Given the description of an element on the screen output the (x, y) to click on. 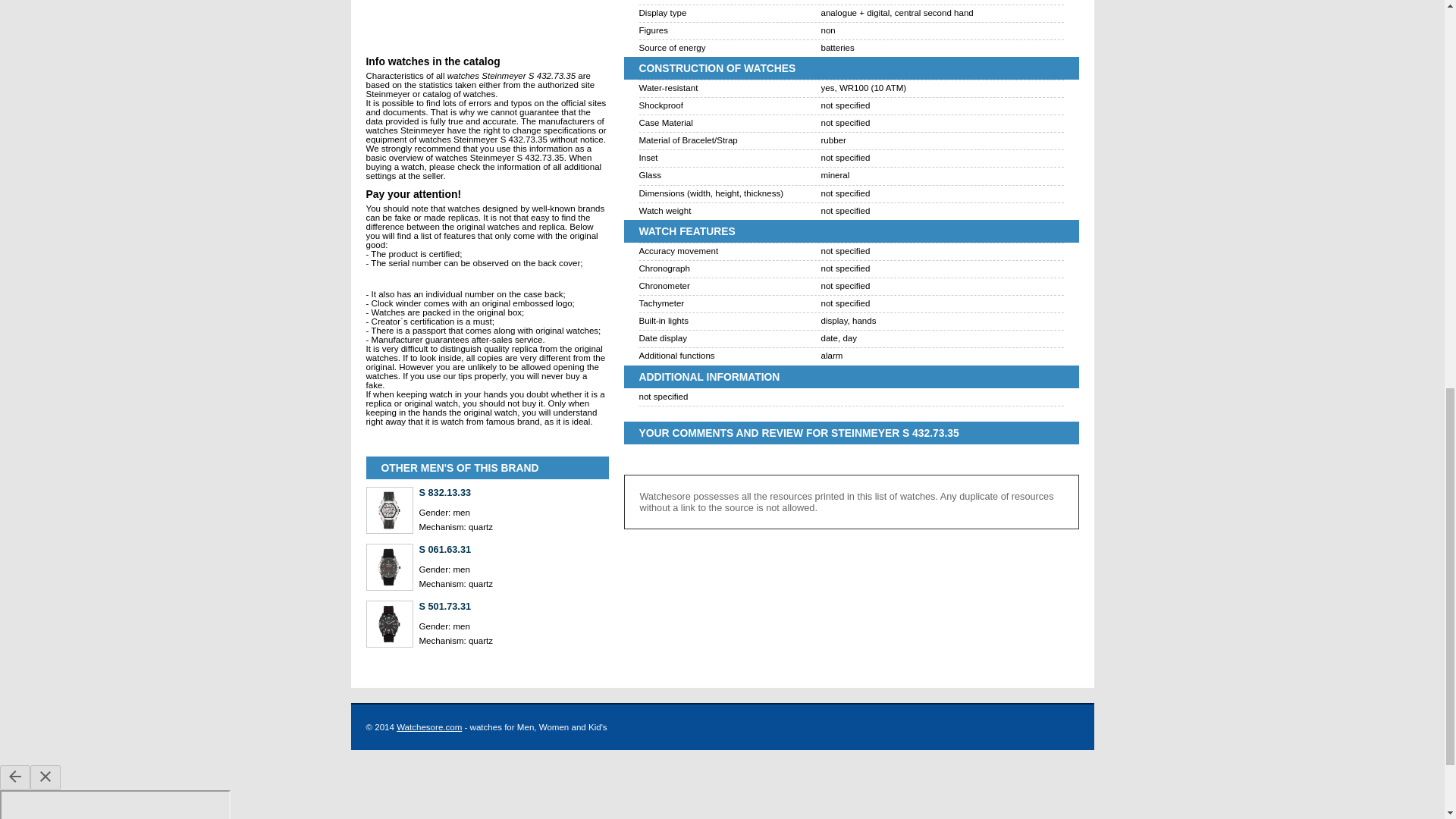
S 501.73.31 (513, 605)
Watchesore.com (428, 727)
Advertisement (486, 27)
S 061.63.31 (513, 549)
S 832.13.33 (513, 491)
